Given the description of an element on the screen output the (x, y) to click on. 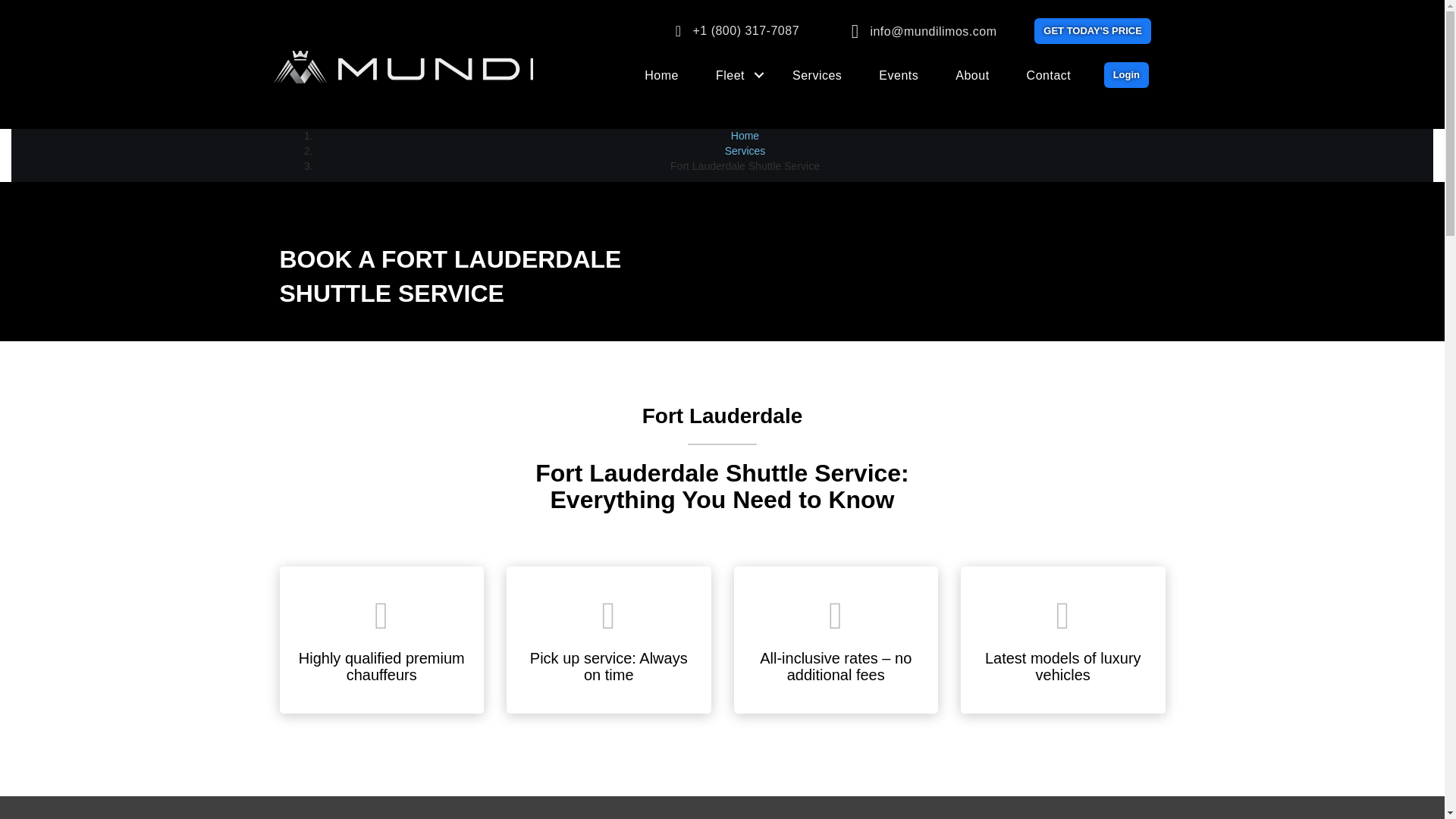
Home (661, 75)
Click Here (1125, 74)
Events Mundi Limos (898, 75)
logo Mundi Limousine (402, 66)
Services Mundi Limos (817, 75)
Click Here (1092, 31)
Events (898, 75)
Services (745, 150)
About Mundi Limos (972, 75)
Contact Mundi Limos (1049, 75)
